Given the description of an element on the screen output the (x, y) to click on. 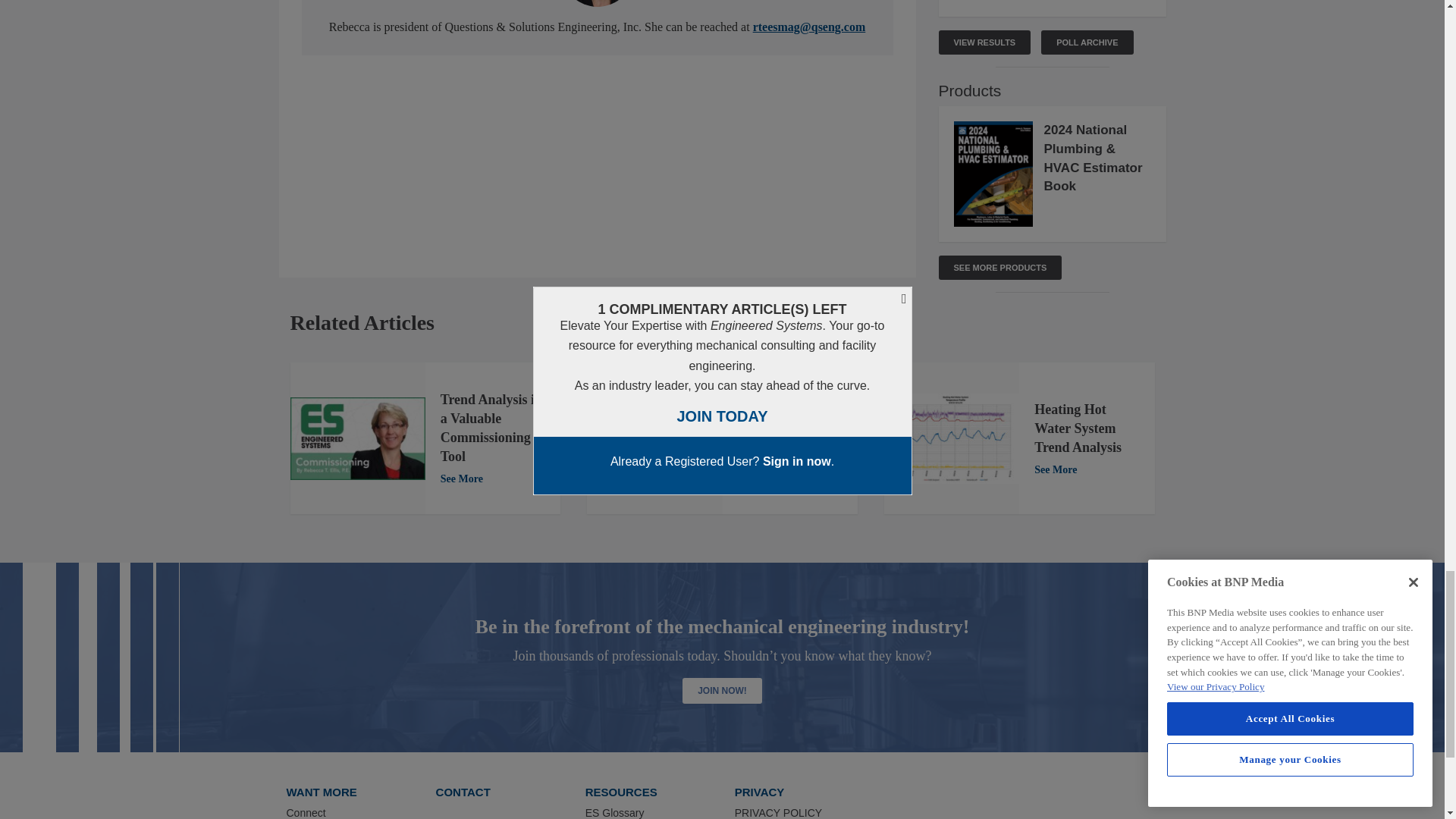
Mc Kew (951, 438)
Commissioning (357, 438)
Commissioning (654, 438)
